Given the description of an element on the screen output the (x, y) to click on. 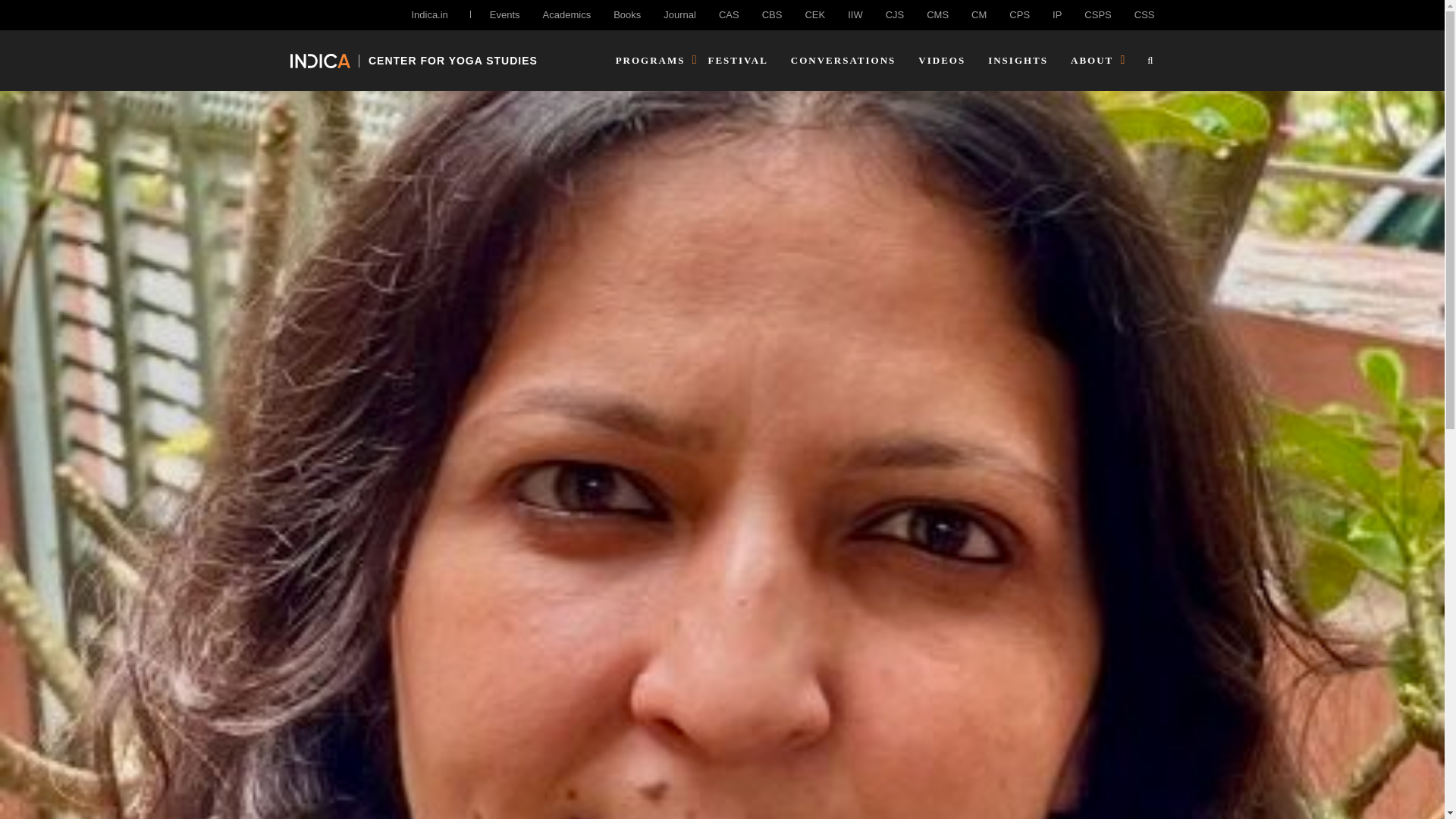
Academics (567, 14)
Journal (679, 14)
INSIGHTS (1018, 60)
CAS (729, 14)
CBS (772, 14)
CJS (894, 14)
ABOUT (1091, 60)
Indica.in (428, 14)
CEK (815, 14)
CENTER FOR YOGA STUDIES (413, 60)
CM (979, 14)
IIW (855, 14)
CSPS (1097, 14)
Books (626, 14)
Events (504, 14)
